Given the description of an element on the screen output the (x, y) to click on. 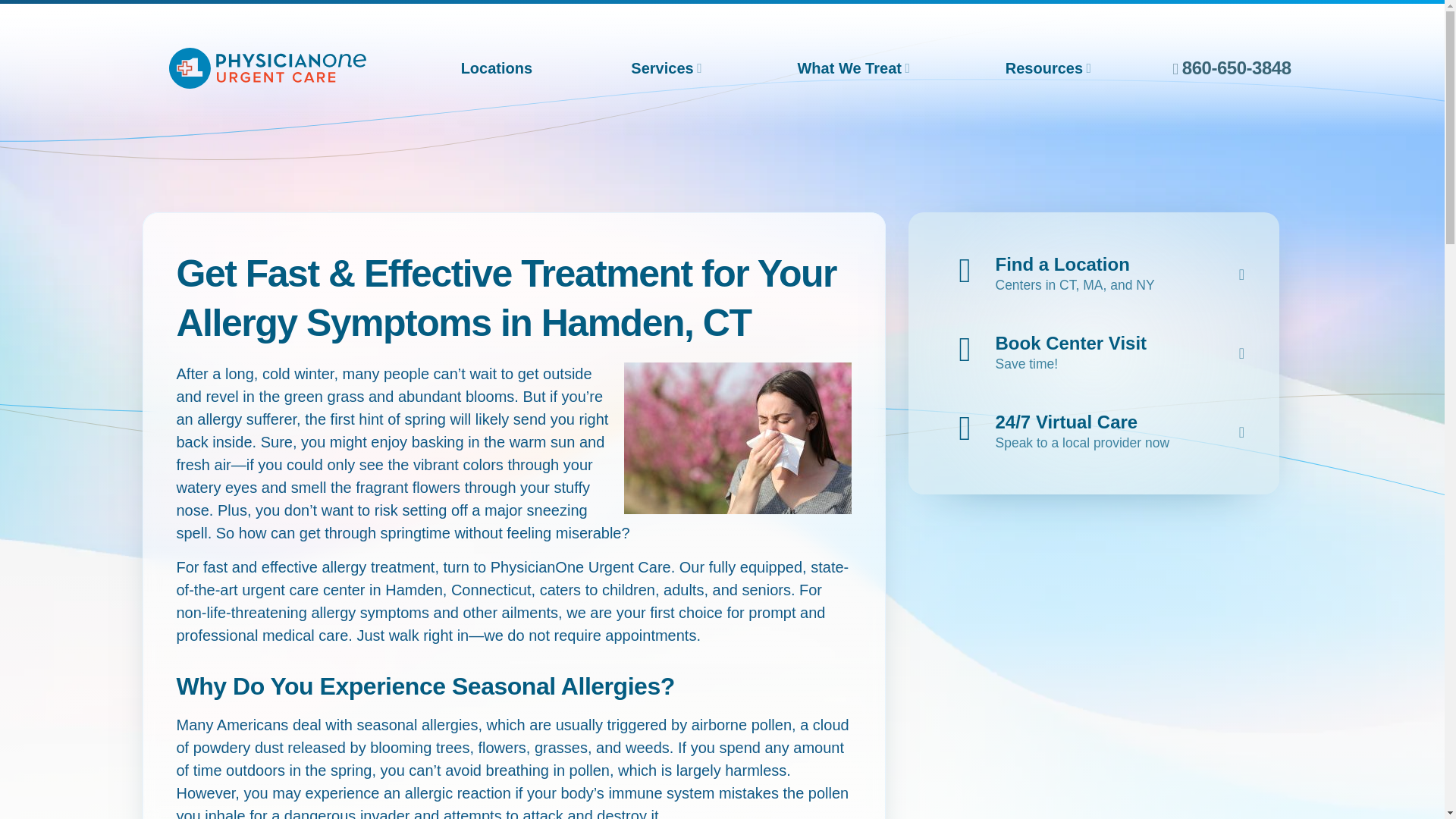
Locations (495, 67)
